Given the description of an element on the screen output the (x, y) to click on. 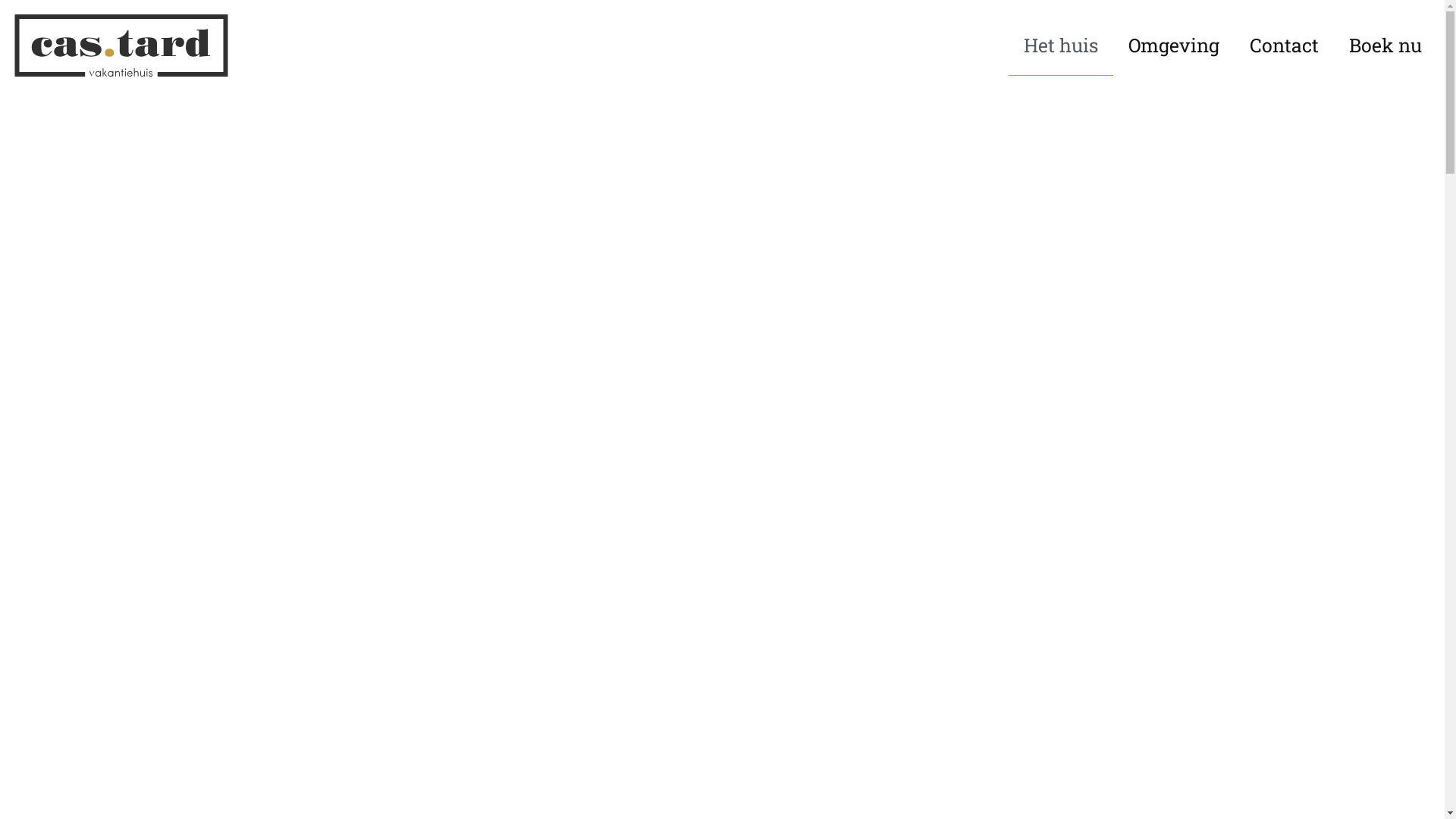
Het huis Element type: text (1060, 45)
Contact Element type: text (1283, 45)
Boek nu Element type: text (1385, 45)
Omgeving Element type: text (1173, 45)
